Given the description of an element on the screen output the (x, y) to click on. 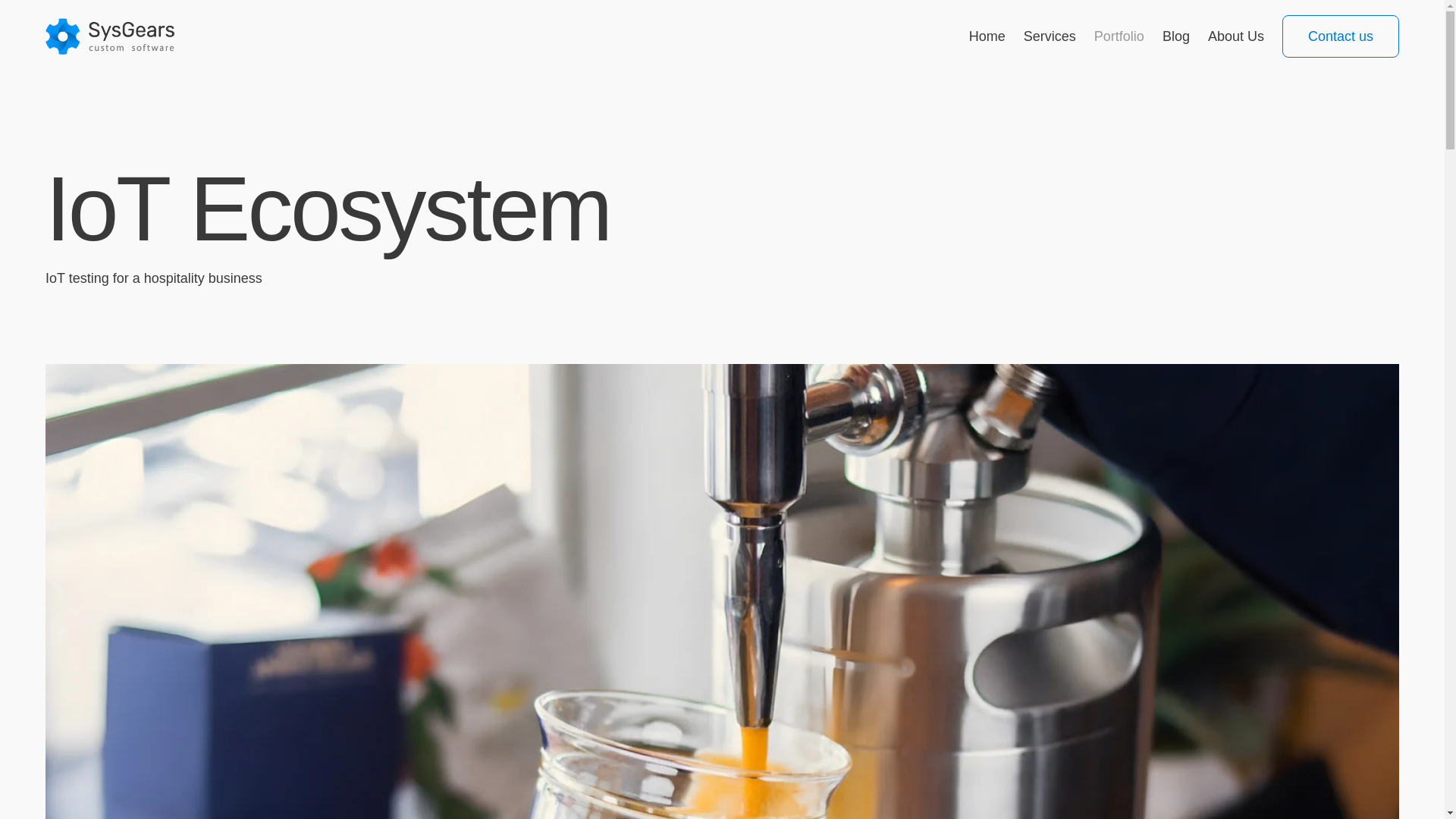
Home (987, 36)
Contact us (1340, 36)
Portfolio (1119, 36)
About Us (1235, 36)
Blog (1175, 36)
Services (1049, 36)
